Given the description of an element on the screen output the (x, y) to click on. 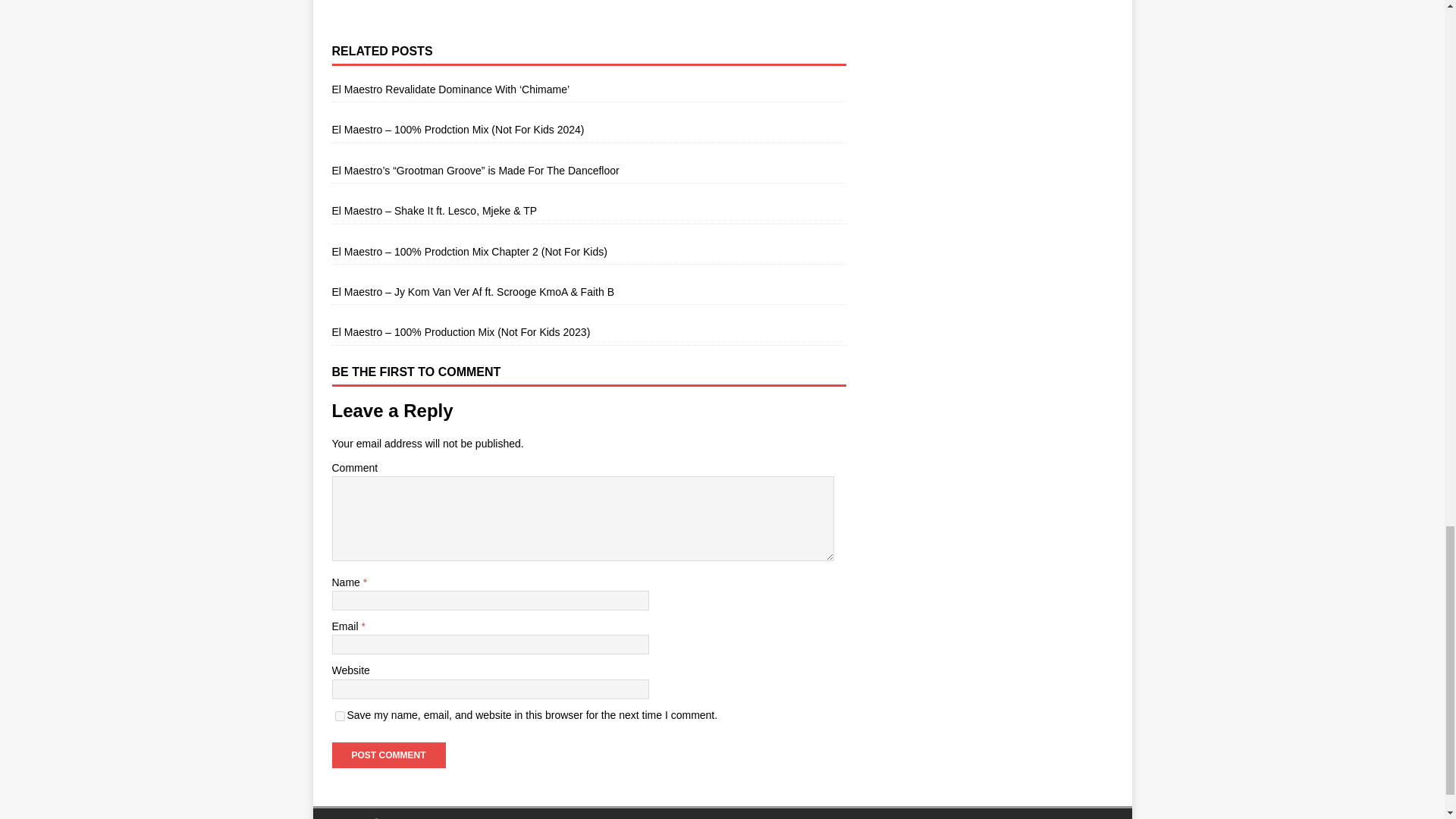
Post Comment (388, 755)
Post Comment (388, 755)
yes (339, 716)
